Given the description of an element on the screen output the (x, y) to click on. 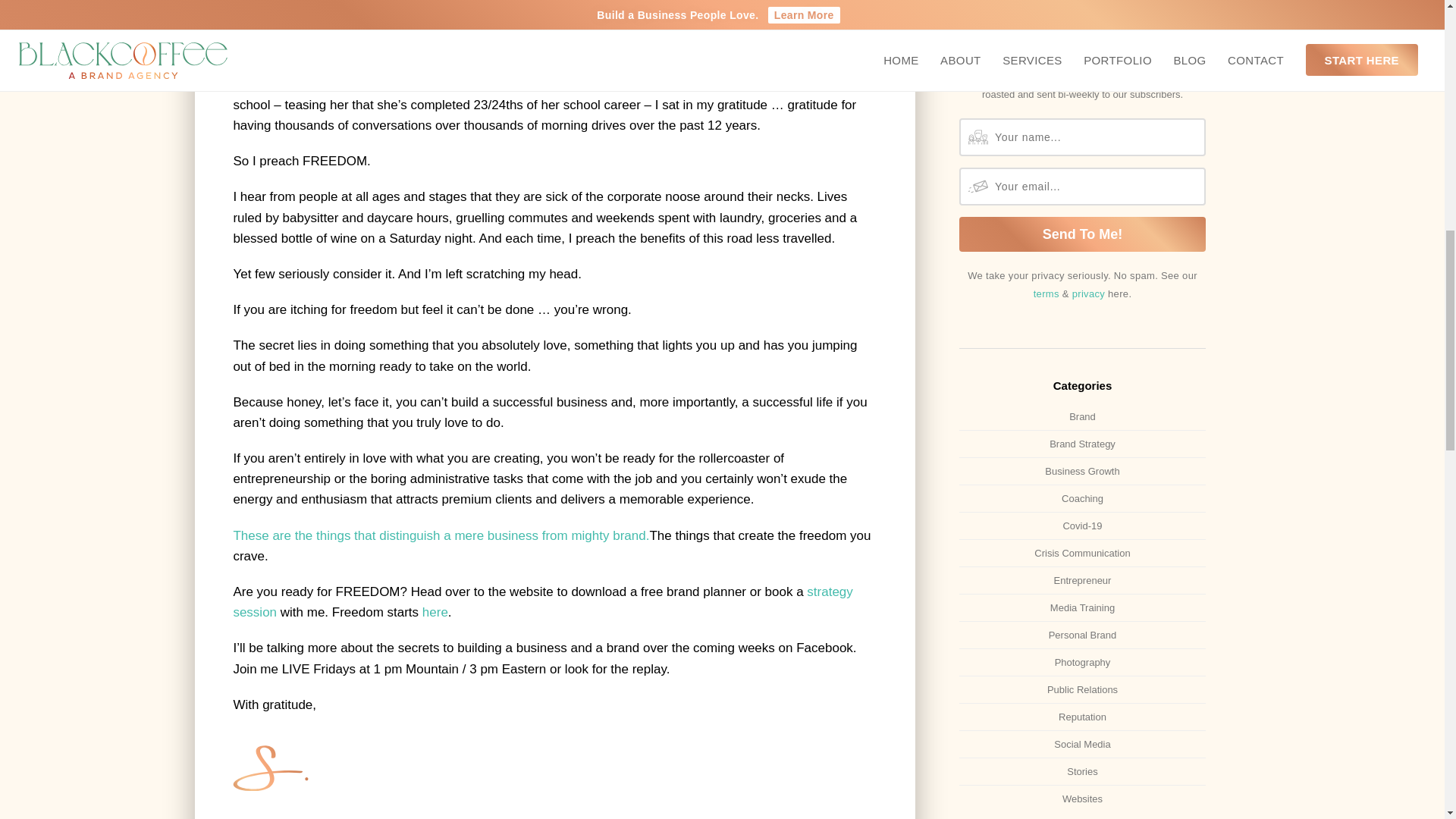
Media Training (1082, 607)
terms (1046, 293)
strategy session (541, 601)
privacy (1088, 293)
here (435, 612)
Send To Me! (1082, 234)
Send To Me! (1082, 234)
Brand Strategy (1082, 443)
Covid-19 (1082, 525)
